Given the description of an element on the screen output the (x, y) to click on. 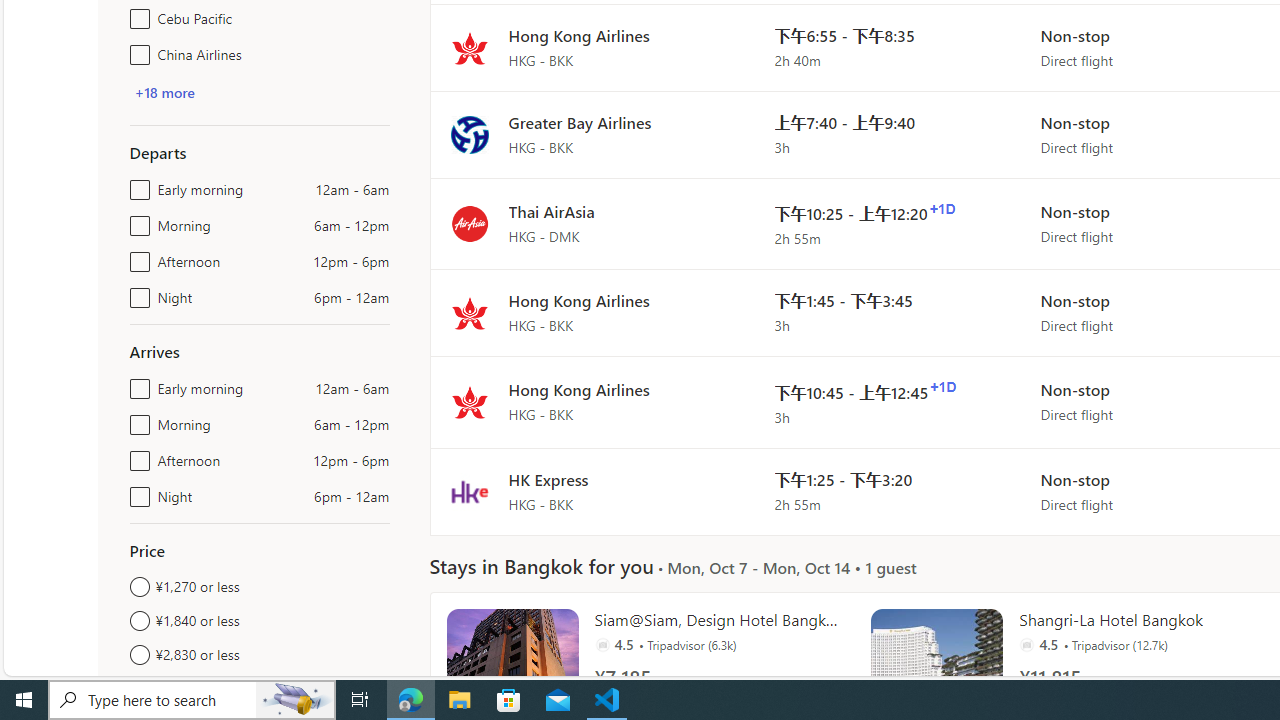
Night6pm - 12am (136, 492)
Flight logo (469, 491)
Afternoon12pm - 6pm (136, 456)
Cebu Pacific (136, 14)
+18 more (164, 92)
Morning6am - 12pm (136, 420)
China Airlines (136, 50)
Tripadvisor (1026, 644)
Any price (259, 688)
Early morning12am - 6am (136, 384)
